Given the description of an element on the screen output the (x, y) to click on. 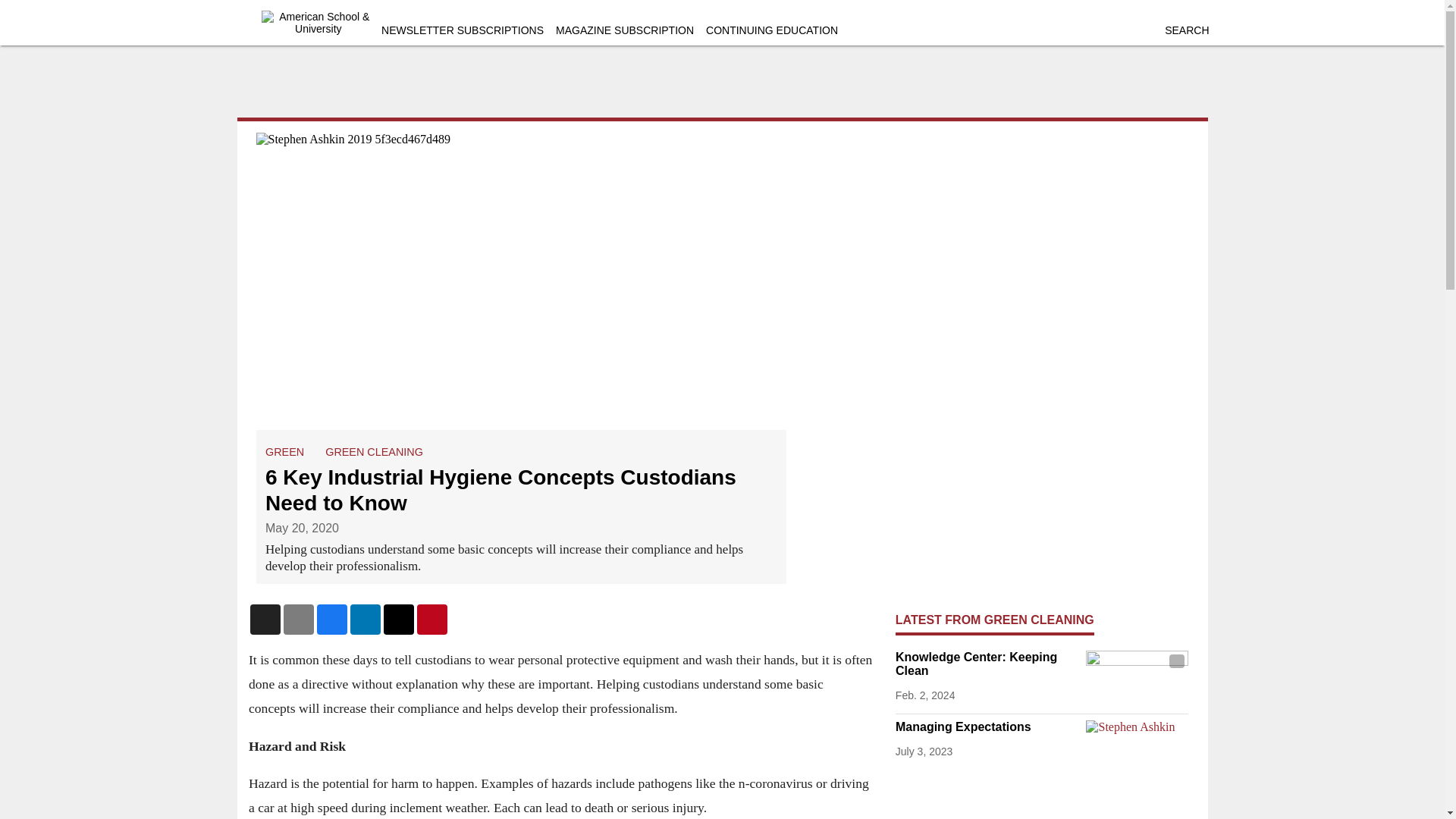
Knowledge Center: Keeping Clean (986, 664)
MAGAZINE SUBSCRIPTION (625, 30)
CONTINUING EDUCATION (772, 30)
GREEN (284, 451)
SEARCH (1186, 30)
Stephen Ashkin (1137, 748)
NEWSLETTER SUBSCRIPTIONS (462, 30)
GREEN CLEANING (373, 451)
Managing Expectations (986, 726)
